Given the description of an element on the screen output the (x, y) to click on. 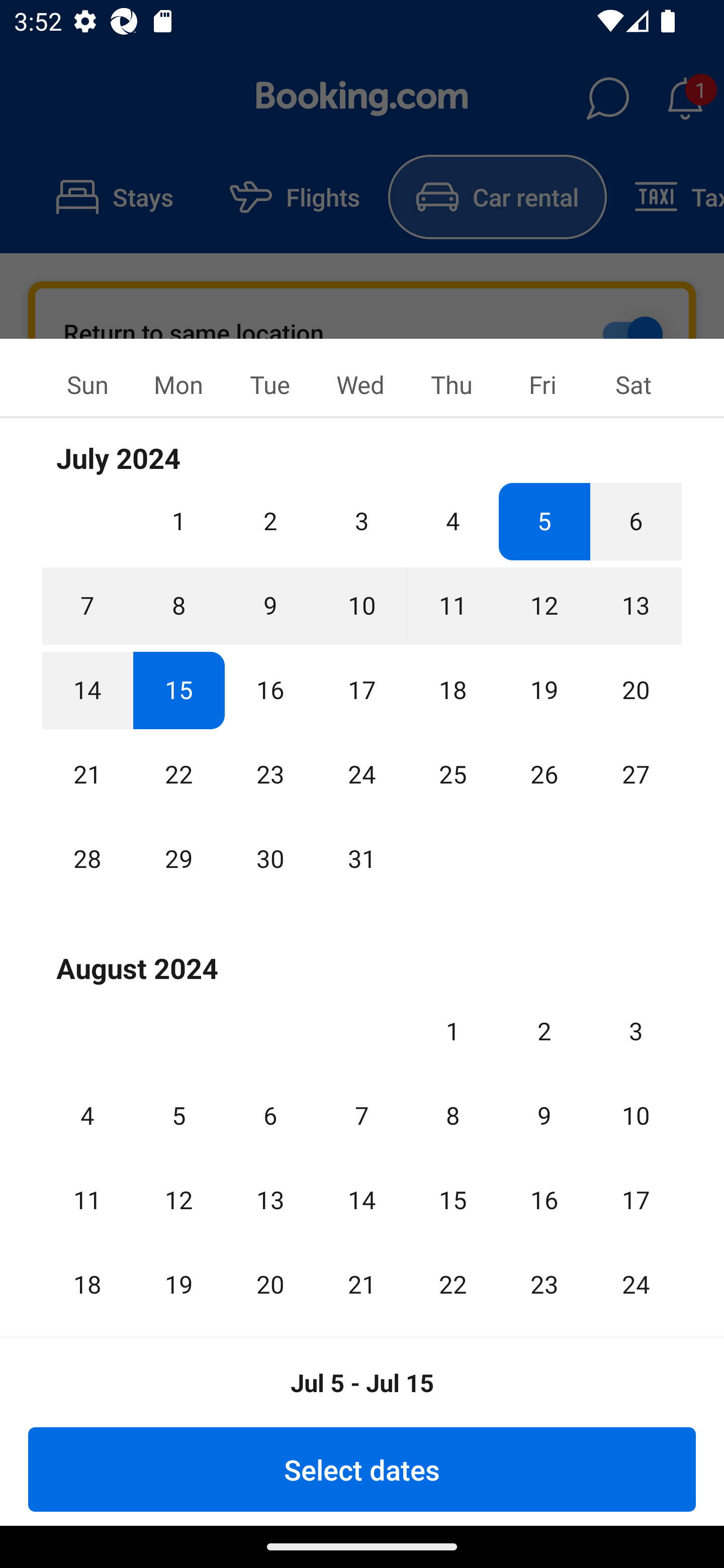
Select dates (361, 1468)
